Given the description of an element on the screen output the (x, y) to click on. 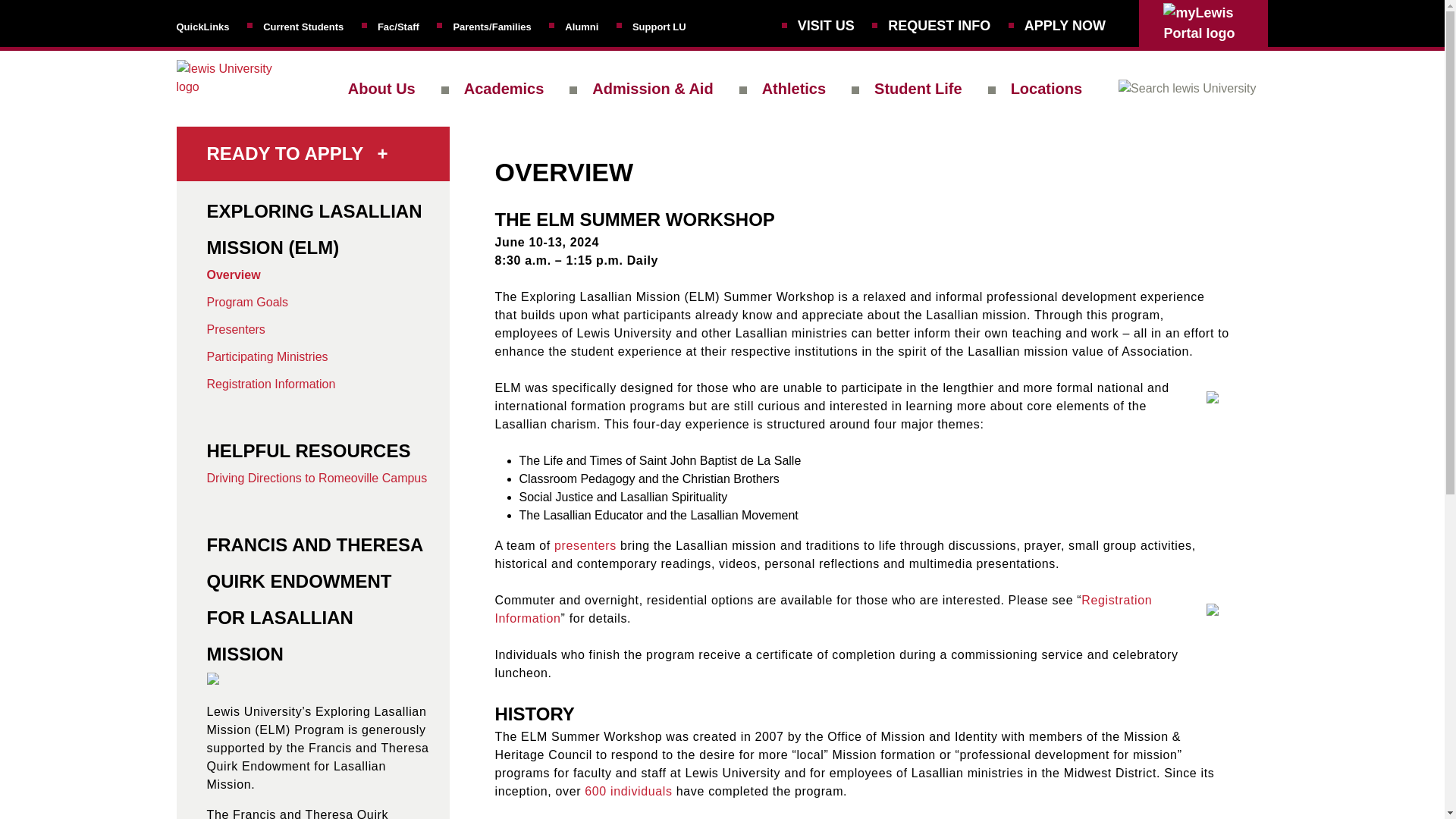
REQUEST INFO (939, 25)
Support LU (658, 25)
VISIT US (825, 25)
Current Students (303, 25)
QuickLinks (202, 25)
APPLY NOW (1065, 25)
Alumni (581, 25)
About Us (380, 88)
